Given the description of an element on the screen output the (x, y) to click on. 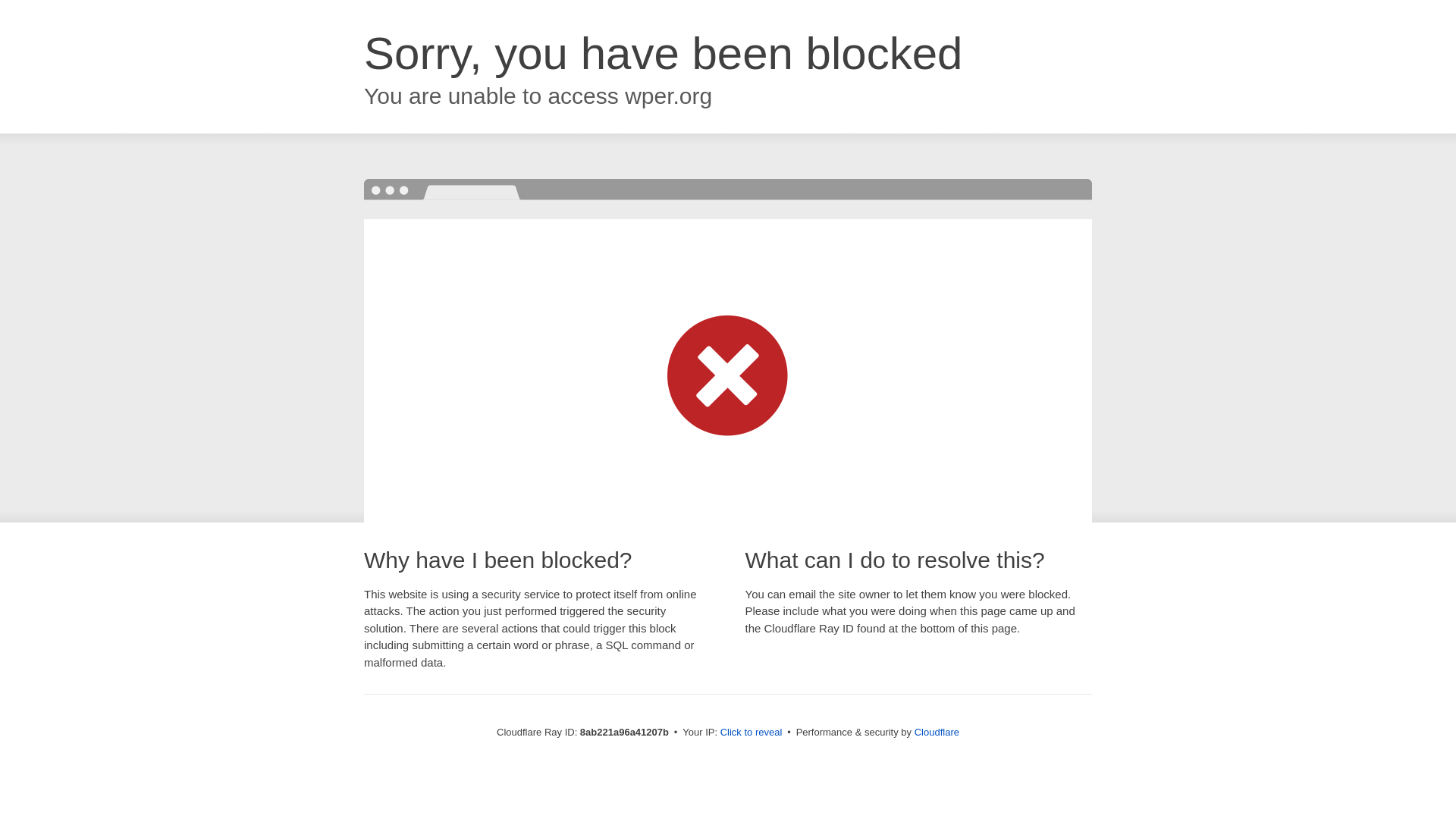
Cloudflare (936, 731)
Click to reveal (751, 732)
